Given the description of an element on the screen output the (x, y) to click on. 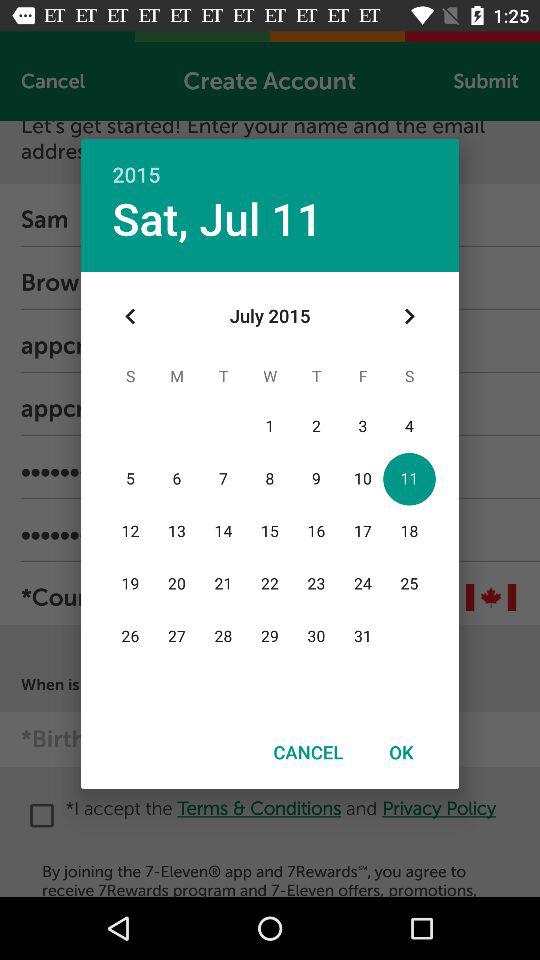
tap the icon next to the ok icon (308, 751)
